Given the description of an element on the screen output the (x, y) to click on. 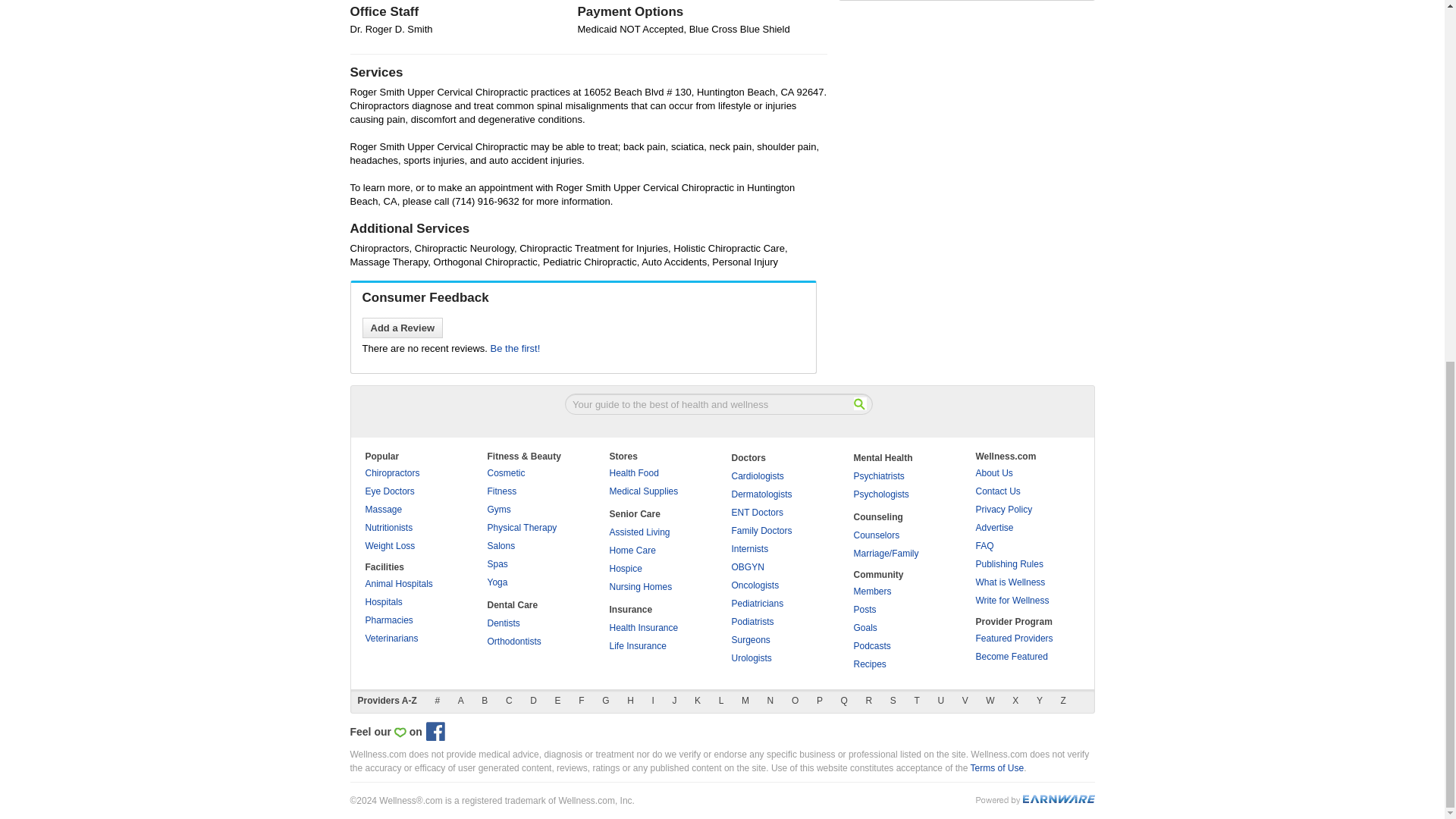
Your guide to the best of health and wellness (718, 403)
Your guide to the best of health and wellness (718, 403)
